Given the description of an element on the screen output the (x, y) to click on. 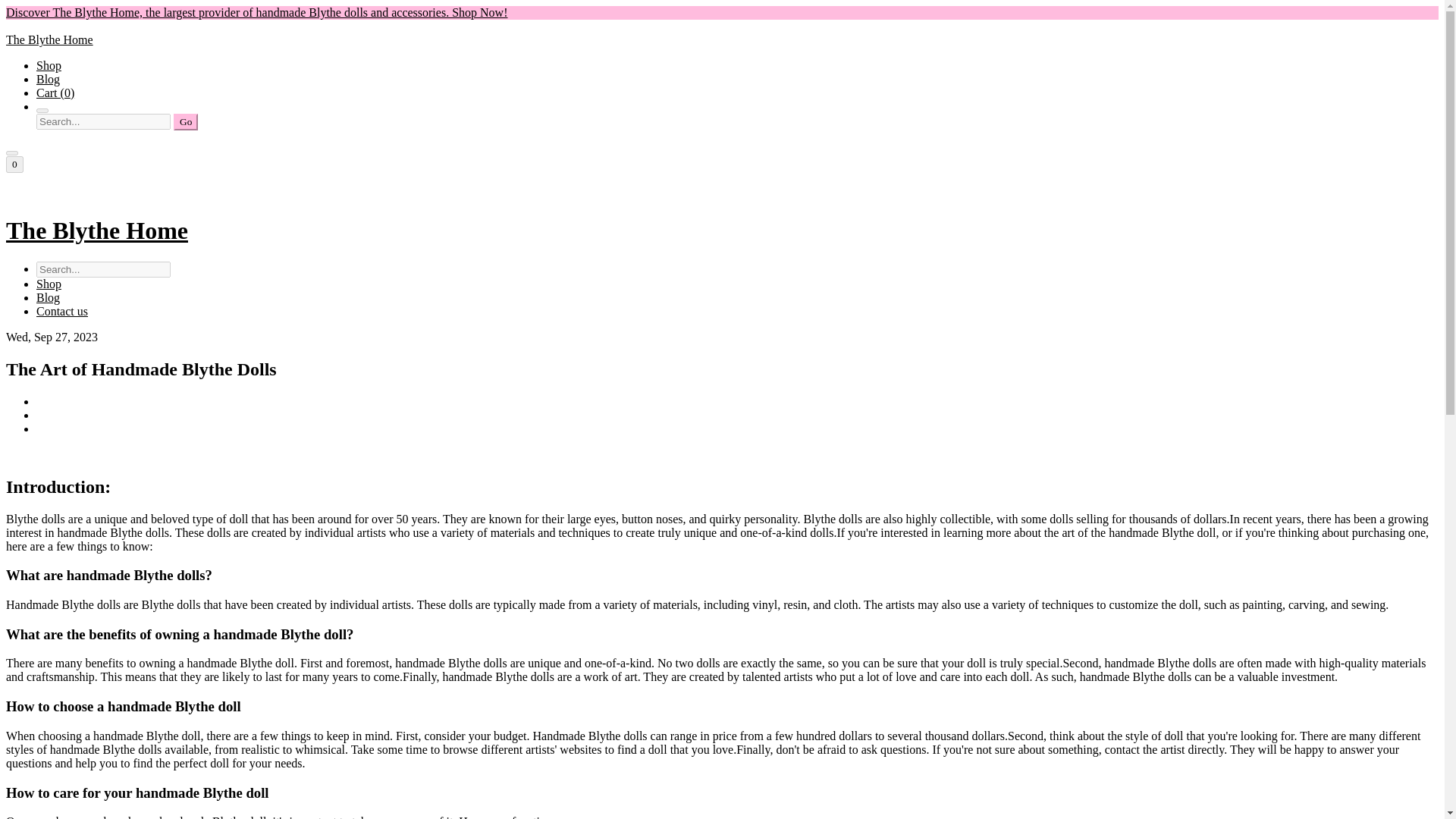
Shop (48, 65)
Go (185, 121)
Contact us (61, 310)
Go (185, 121)
Blog (47, 78)
Blog (47, 297)
0 (14, 164)
Shop (48, 283)
